Given the description of an element on the screen output the (x, y) to click on. 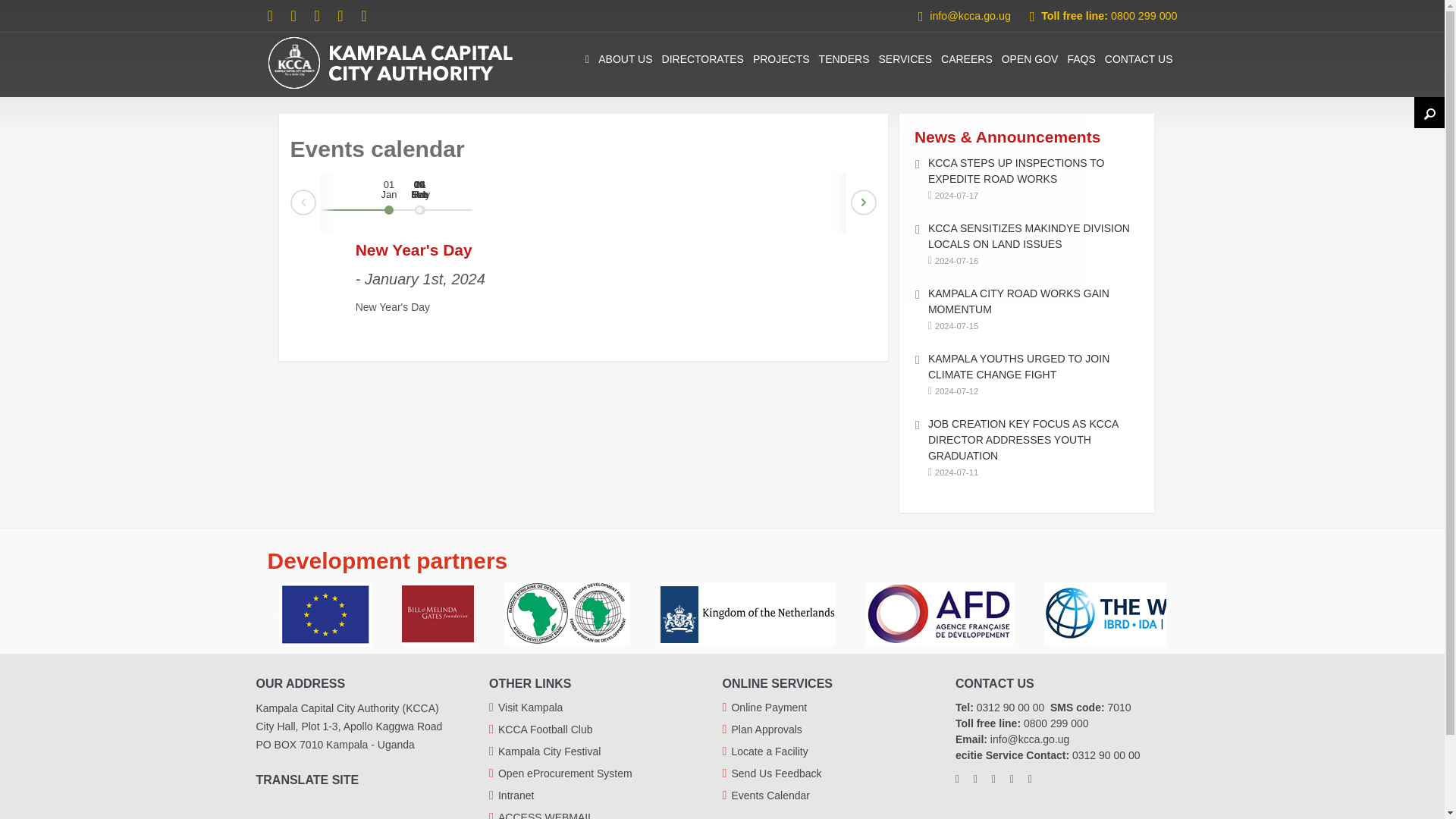
TENDERS (844, 58)
ABOUT US (625, 58)
DIRECTORATES (703, 58)
PROJECTS (780, 58)
